Given the description of an element on the screen output the (x, y) to click on. 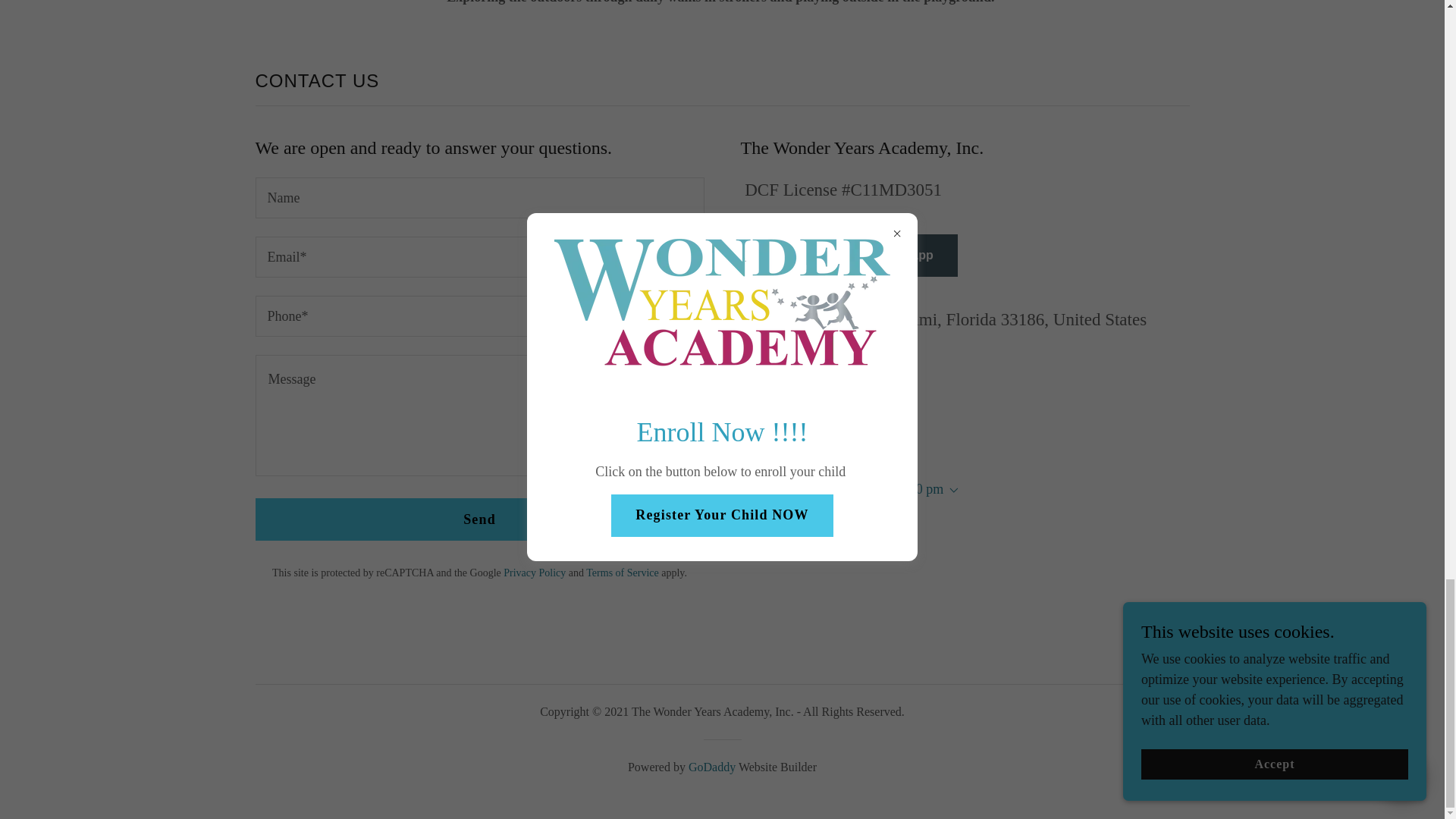
Message us on WhatsApp (847, 255)
Terms of Service (622, 572)
GoDaddy (711, 766)
Privacy Policy (534, 572)
Send (478, 518)
305-454-4000 (827, 364)
